Given the description of an element on the screen output the (x, y) to click on. 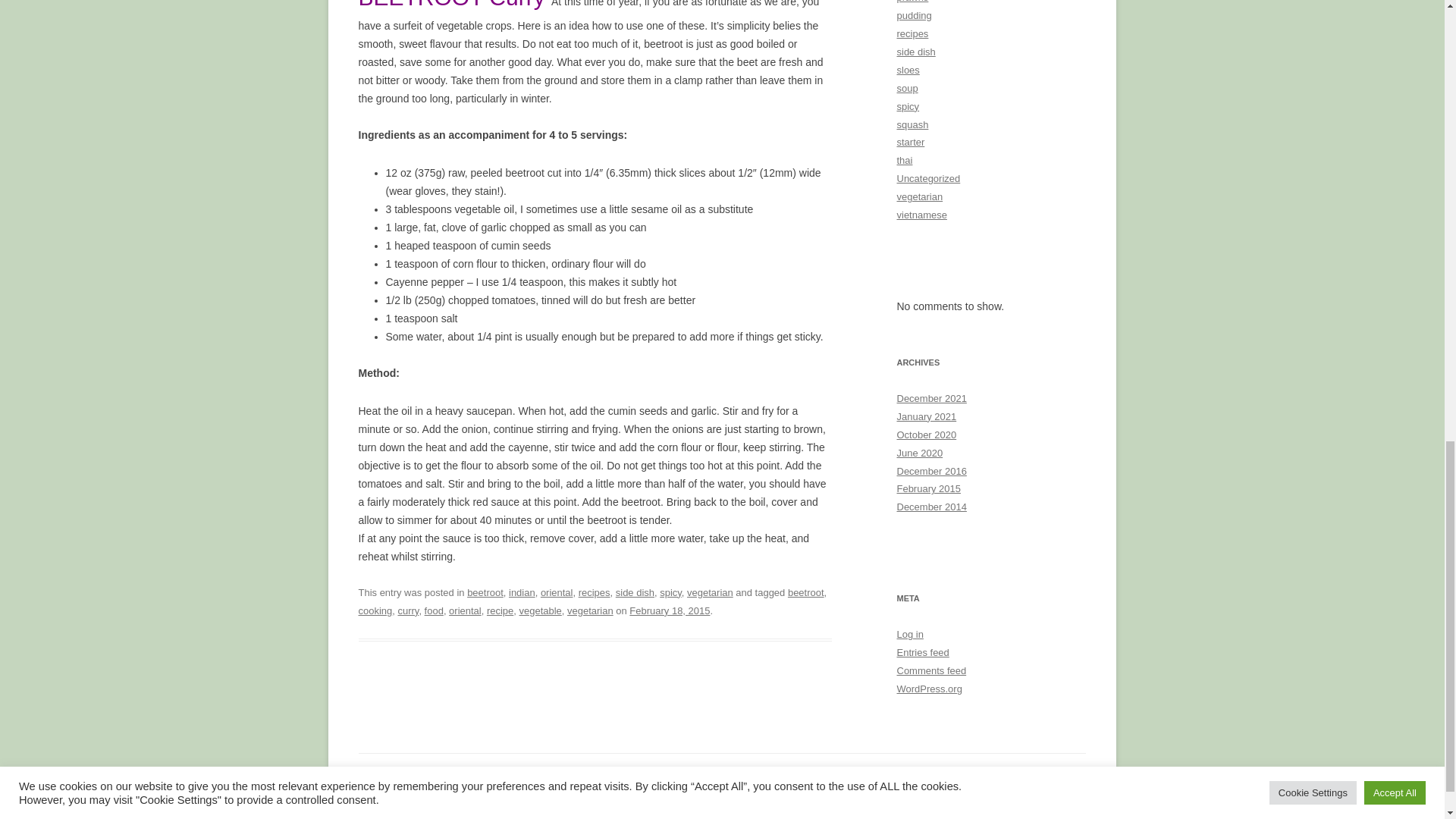
beetroot (485, 592)
Semantic Personal Publishing Platform (422, 780)
food (434, 610)
11:21 am (669, 610)
spicy (670, 592)
cooking (374, 610)
vegetable (539, 610)
vegetarian (710, 592)
curry (408, 610)
oriental (556, 592)
February 18, 2015 (669, 610)
side dish (634, 592)
beetroot (805, 592)
recipe (499, 610)
indian (521, 592)
